Given the description of an element on the screen output the (x, y) to click on. 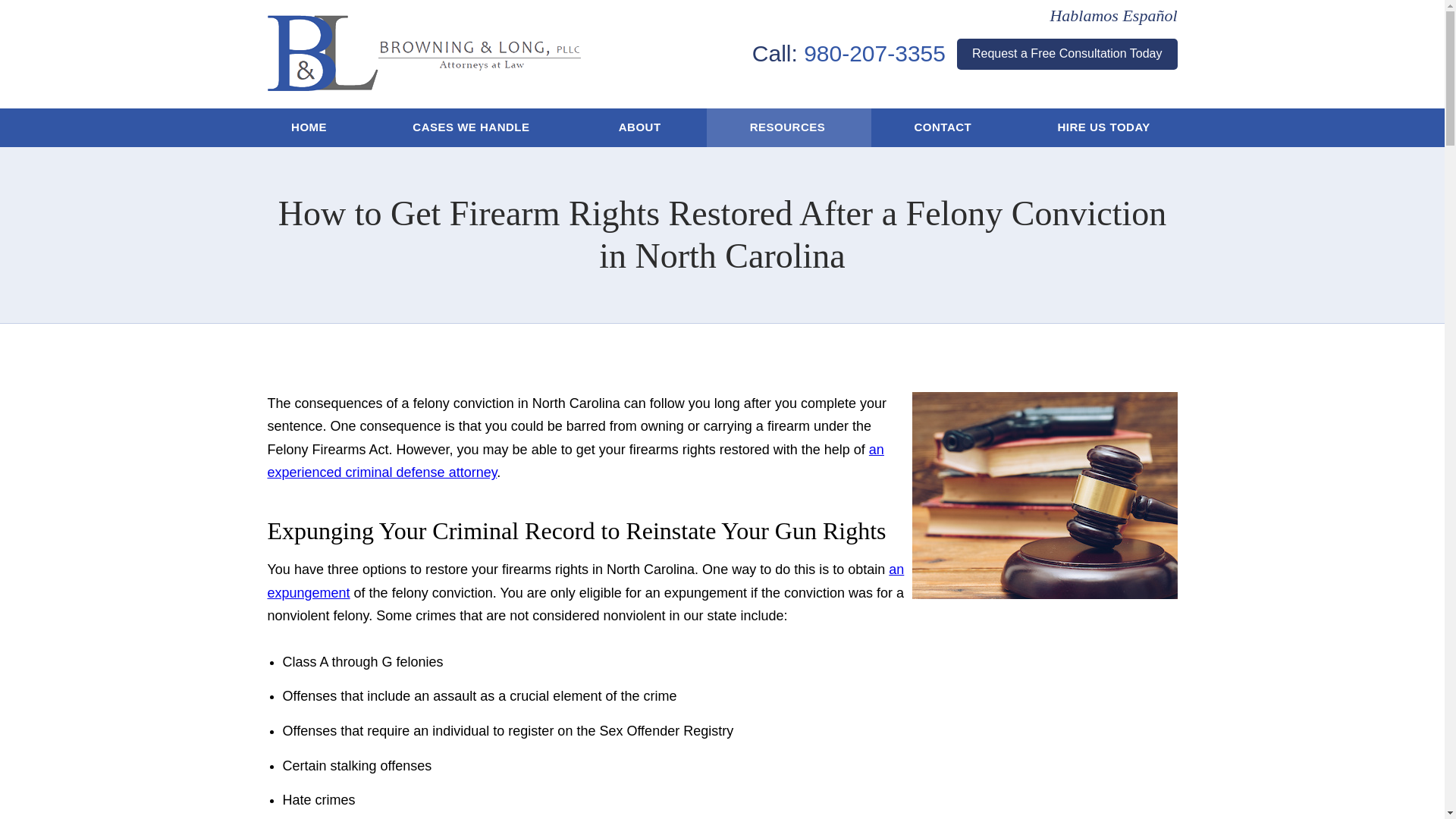
an expungement (585, 580)
ABOUT (640, 127)
an experienced criminal defense attorney (574, 461)
HIRE US TODAY (1105, 127)
CONTACT (942, 127)
Request a Free Consultation Today (1066, 53)
CASES WE HANDLE (472, 127)
RESOURCES (788, 127)
HOME (308, 127)
